Given the description of an element on the screen output the (x, y) to click on. 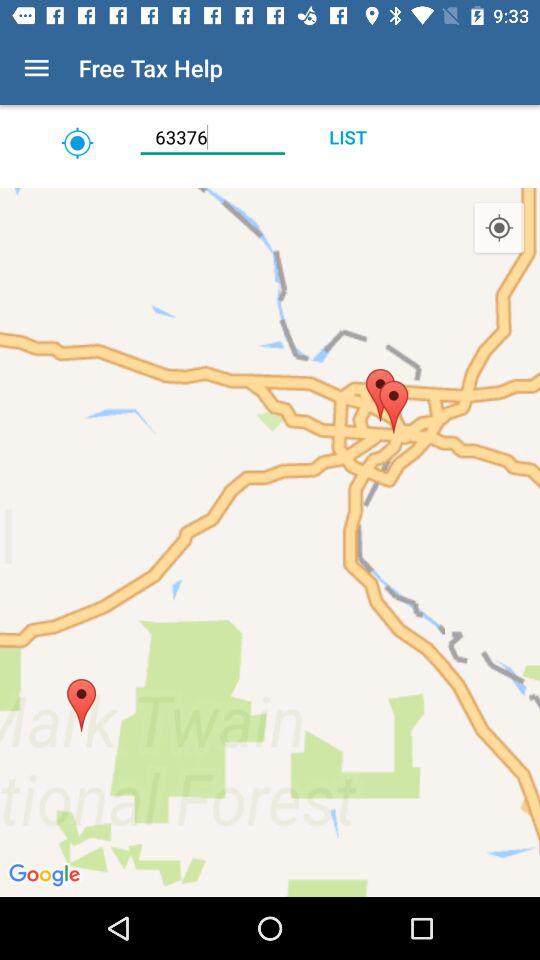
select the icon to the left of free tax help (36, 68)
